Given the description of an element on the screen output the (x, y) to click on. 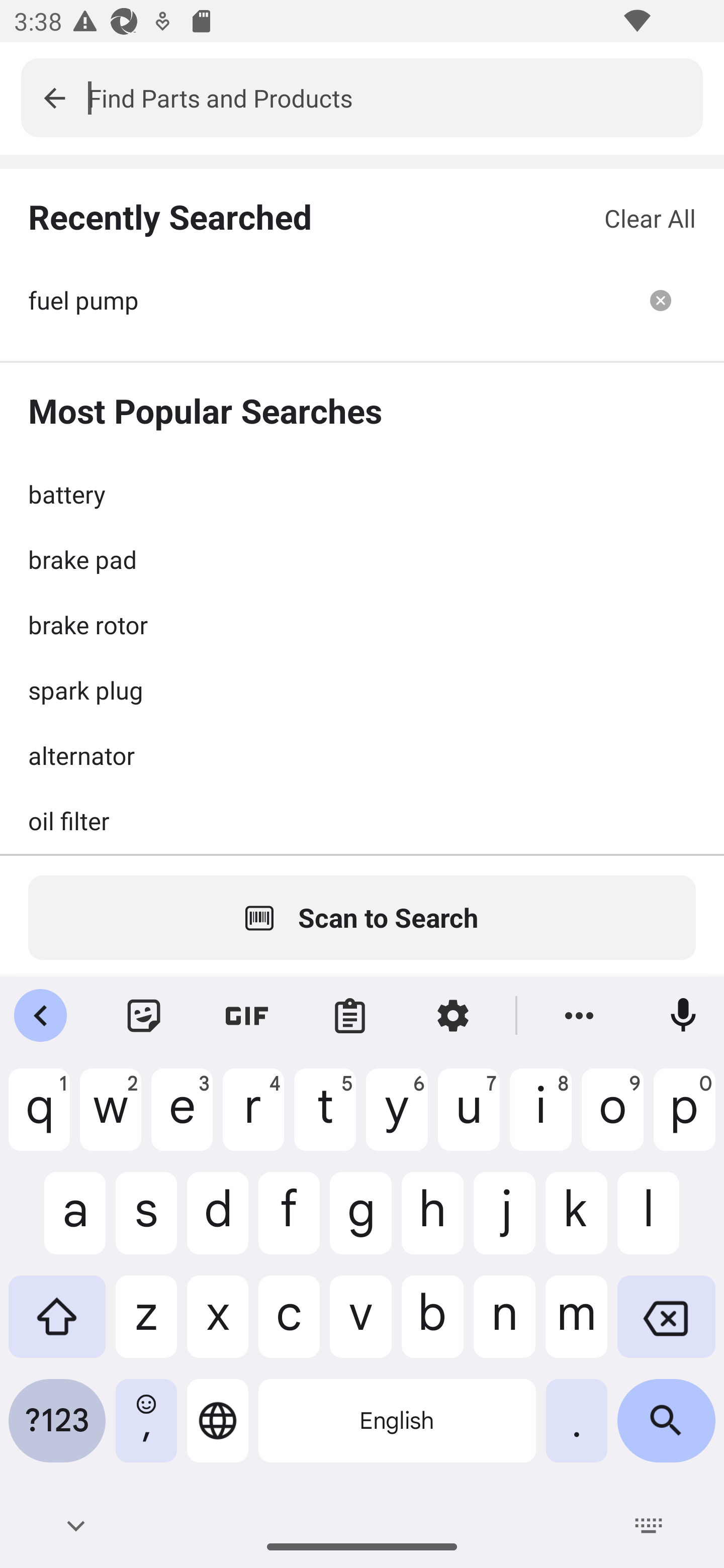
 (54, 97)
Find Parts and Products Text input field (395, 97)
Clear all Recently Searched items Clear All (649, 217)
fuel pump (326, 300)
Remove item fuel pump from Recently Searched  (660, 300)
battery (361, 493)
brake pad (361, 558)
brake rotor (361, 624)
spark plug (361, 689)
alternator (361, 754)
oil filter (361, 820)
